Given the description of an element on the screen output the (x, y) to click on. 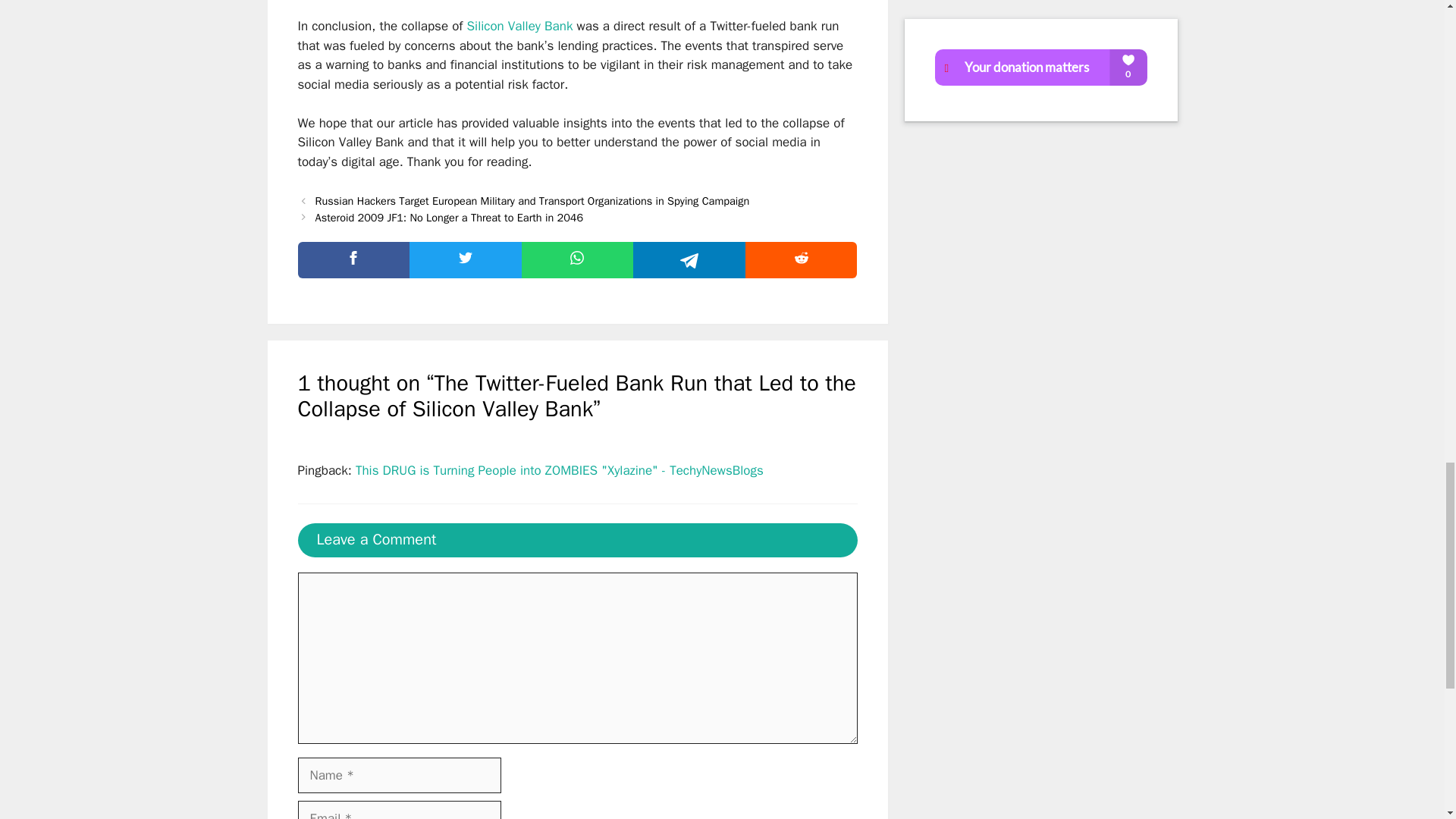
Asteroid 2009 JF1: No Longer a Threat to Earth in 2046 (449, 217)
Silicon Valley Bank (520, 26)
